Given the description of an element on the screen output the (x, y) to click on. 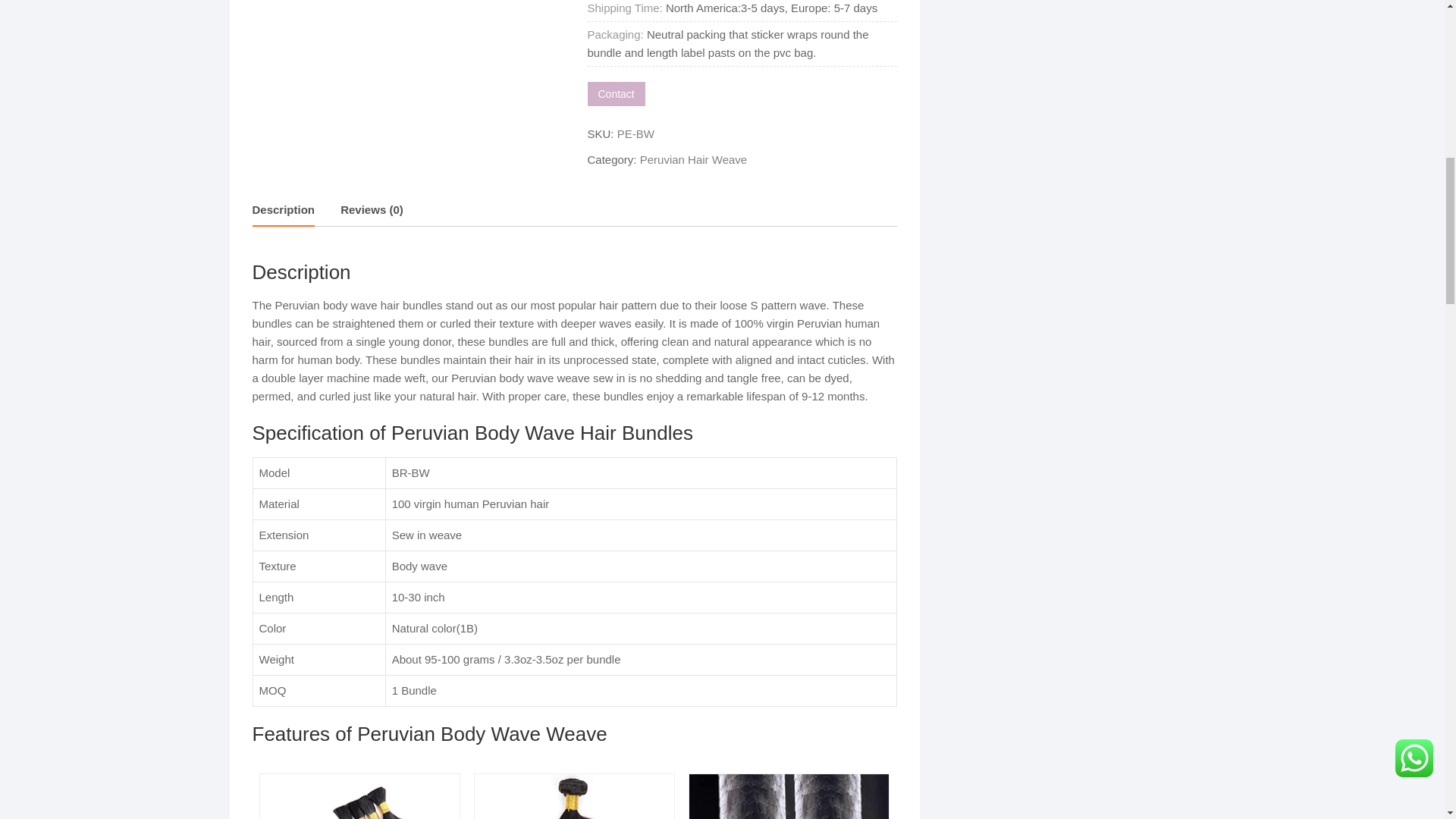
Peruvian Hair Weave (693, 159)
Contact (615, 93)
Description (282, 210)
